Given the description of an element on the screen output the (x, y) to click on. 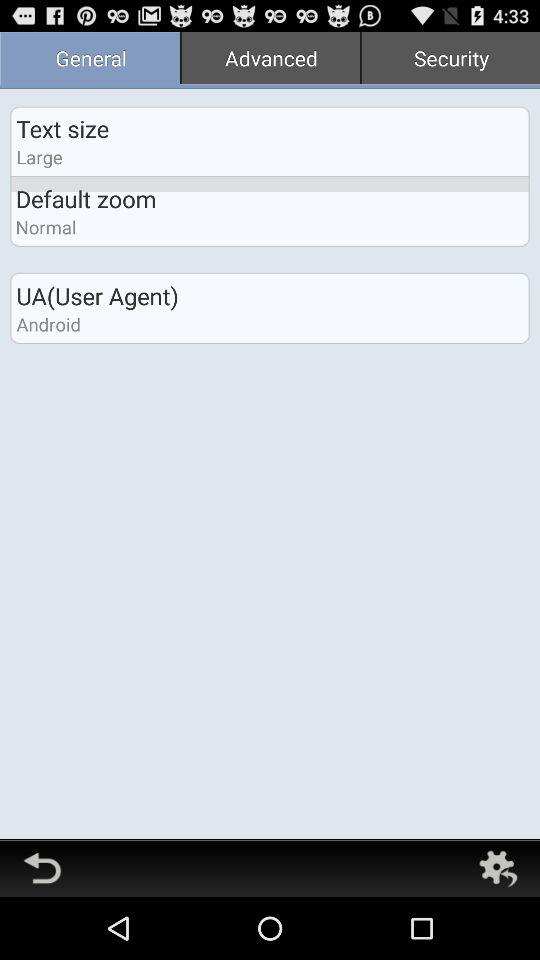
jump to ua(user agent) item (97, 295)
